Given the description of an element on the screen output the (x, y) to click on. 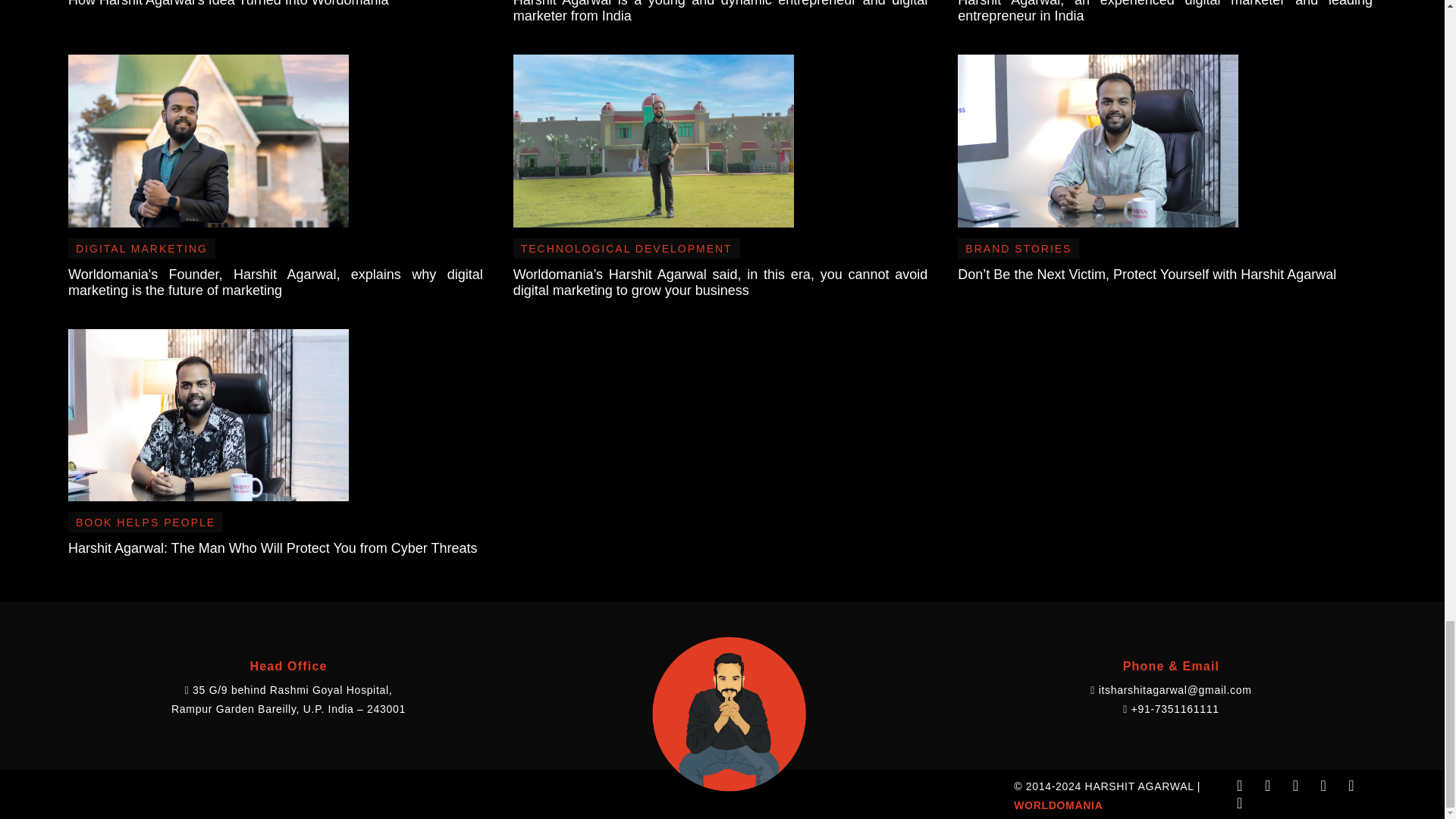
BRAND STORIES (1018, 248)
WORLDOMANIA (1057, 805)
TECHNOLOGICAL DEVELOPMENT (626, 248)
BOOK HELPS PEOPLE (145, 522)
DIGITAL MARKETING (141, 248)
